Given the description of an element on the screen output the (x, y) to click on. 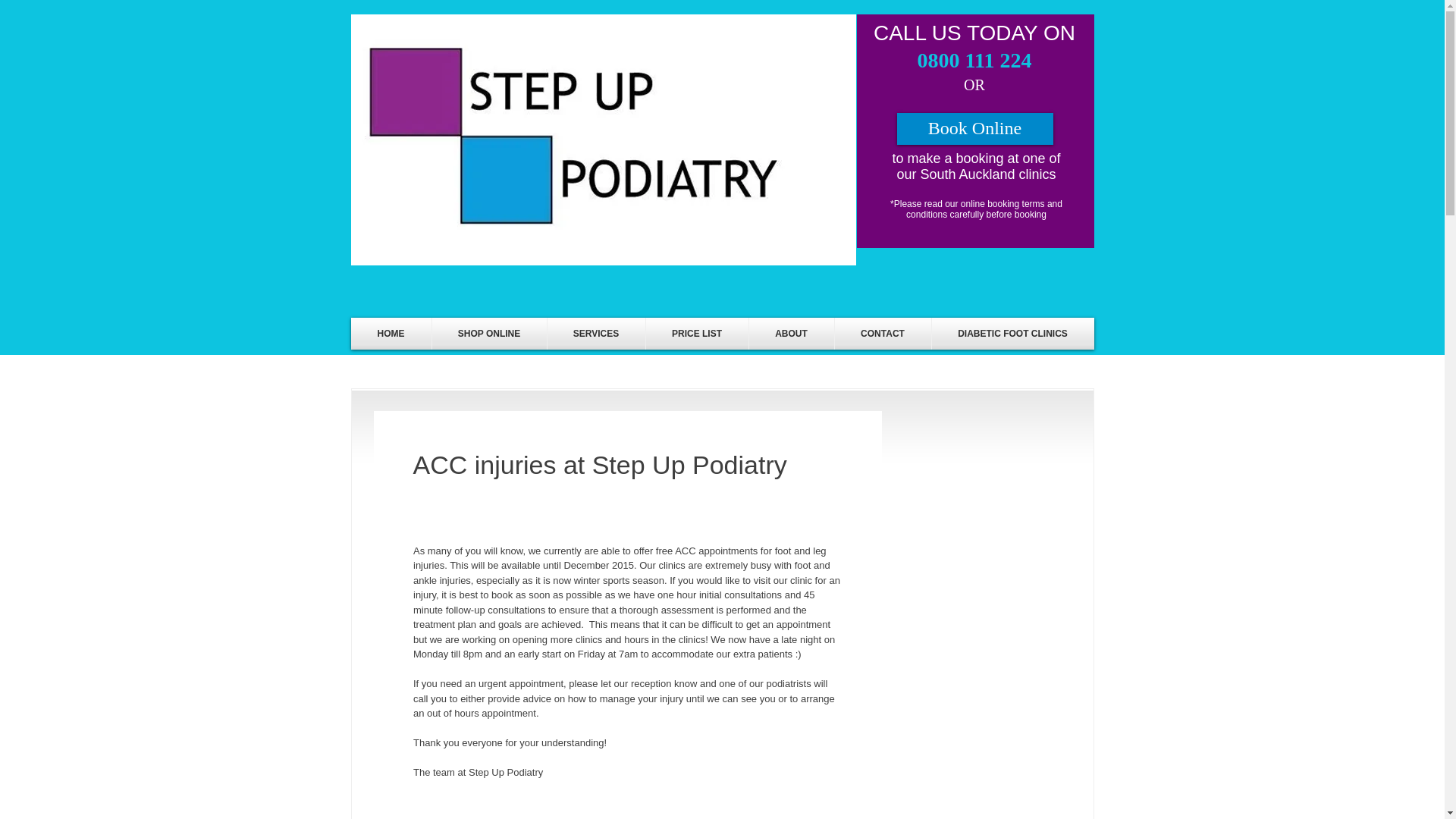
CONTACT (882, 333)
HOME (390, 333)
SERVICES (596, 333)
SHOP ONLINE (489, 333)
DIABETIC FOOT CLINICS (1012, 333)
Book Online (974, 128)
ABOUT (791, 333)
PRICE LIST (697, 333)
